Given the description of an element on the screen output the (x, y) to click on. 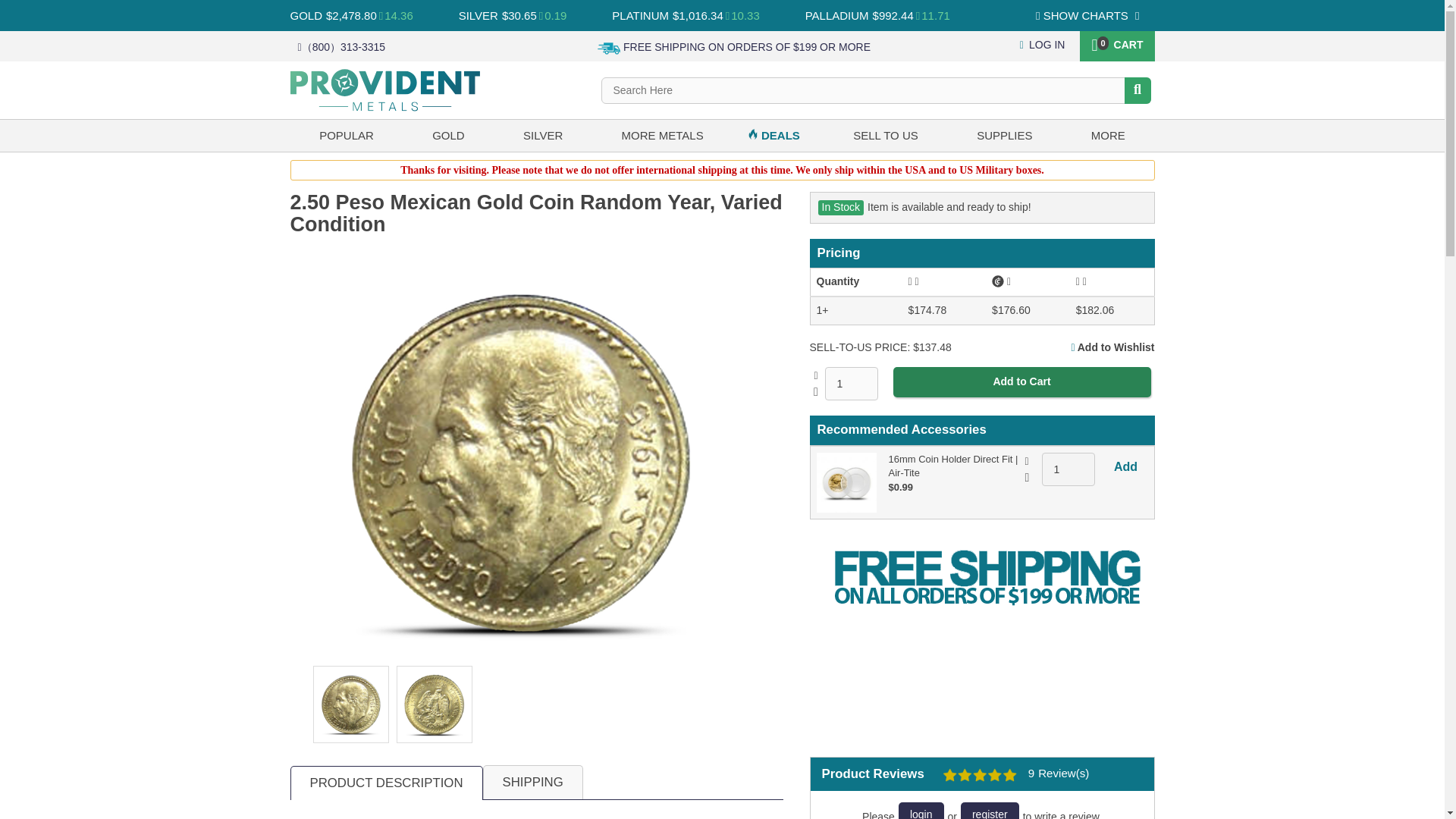
1 (1068, 469)
POPULAR (346, 134)
SILVER (477, 15)
1 (851, 383)
GOLD (305, 15)
PALLADIUM (837, 15)
LOG IN (1043, 44)
Qty (1068, 469)
PLATINUM (639, 15)
Qty (851, 383)
0CART (1116, 43)
